Given the description of an element on the screen output the (x, y) to click on. 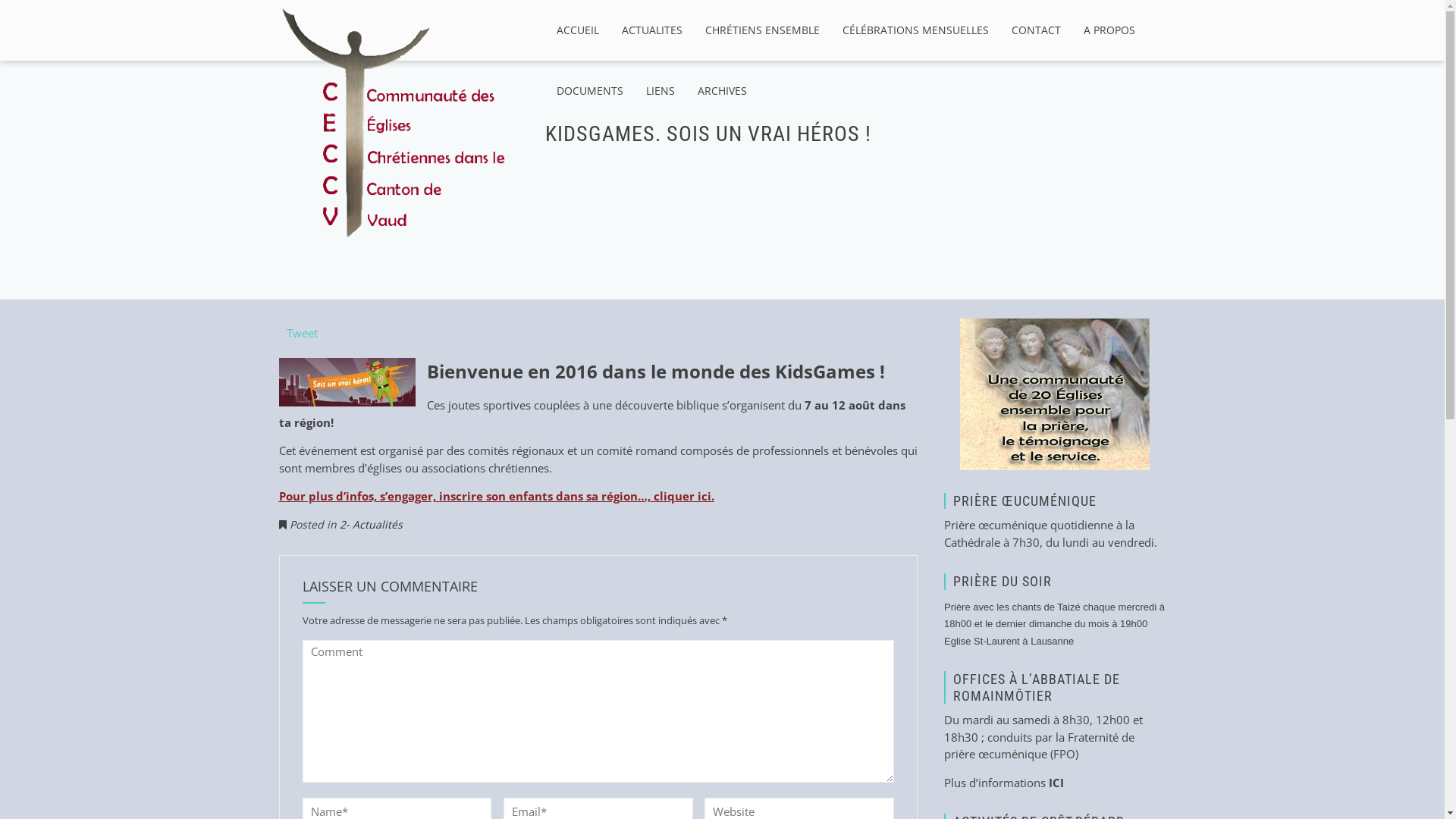
DOCUMENTS Element type: text (588, 90)
ICI Element type: text (1055, 782)
Tweet Element type: text (301, 331)
LIENS Element type: text (659, 90)
CONTACT Element type: text (1035, 30)
A PROPOS Element type: text (1109, 30)
ACCUEIL Element type: text (576, 30)
ARCHIVES Element type: text (721, 90)
ACTUALITES Element type: text (651, 30)
Rechercher Element type: text (44, 13)
